Given the description of an element on the screen output the (x, y) to click on. 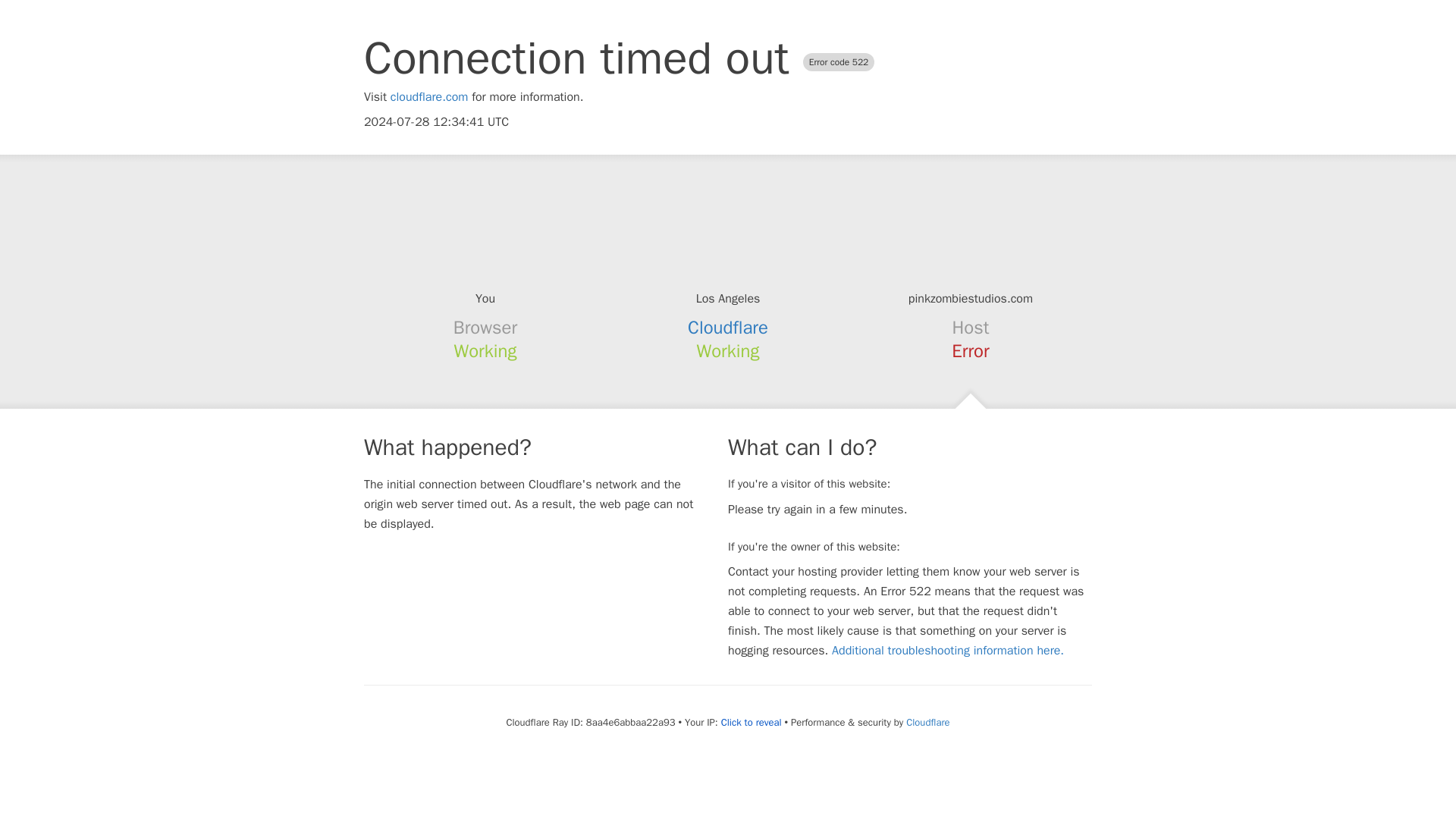
Click to reveal (750, 722)
Cloudflare (927, 721)
cloudflare.com (429, 96)
Cloudflare (727, 327)
Additional troubleshooting information here. (947, 650)
